Given the description of an element on the screen output the (x, y) to click on. 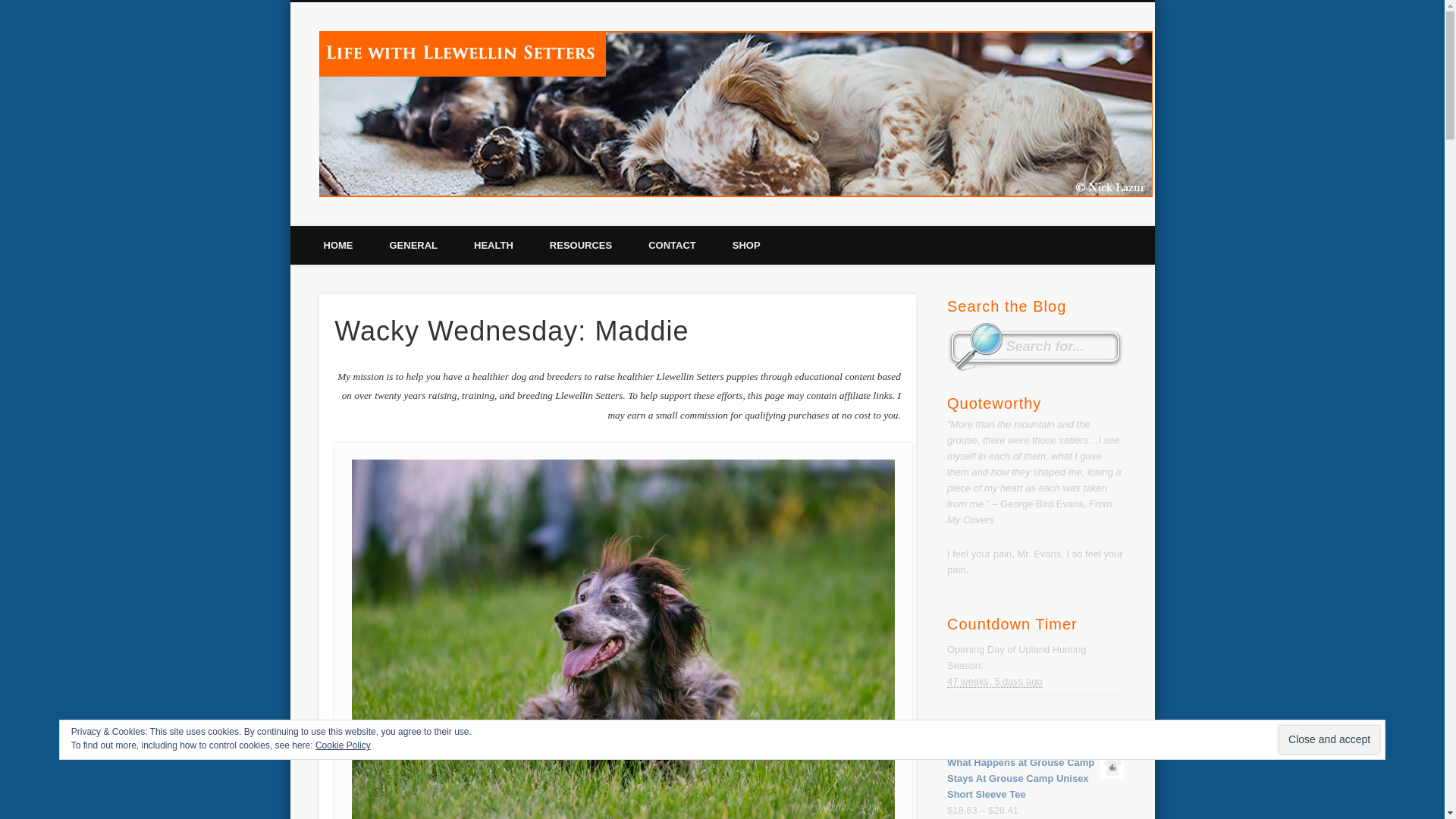
GENERAL (414, 245)
HOME (337, 245)
Search for... (1056, 346)
Close and accept (1329, 739)
September 1st, 2023, 8:00 am (994, 681)
